Given the description of an element on the screen output the (x, y) to click on. 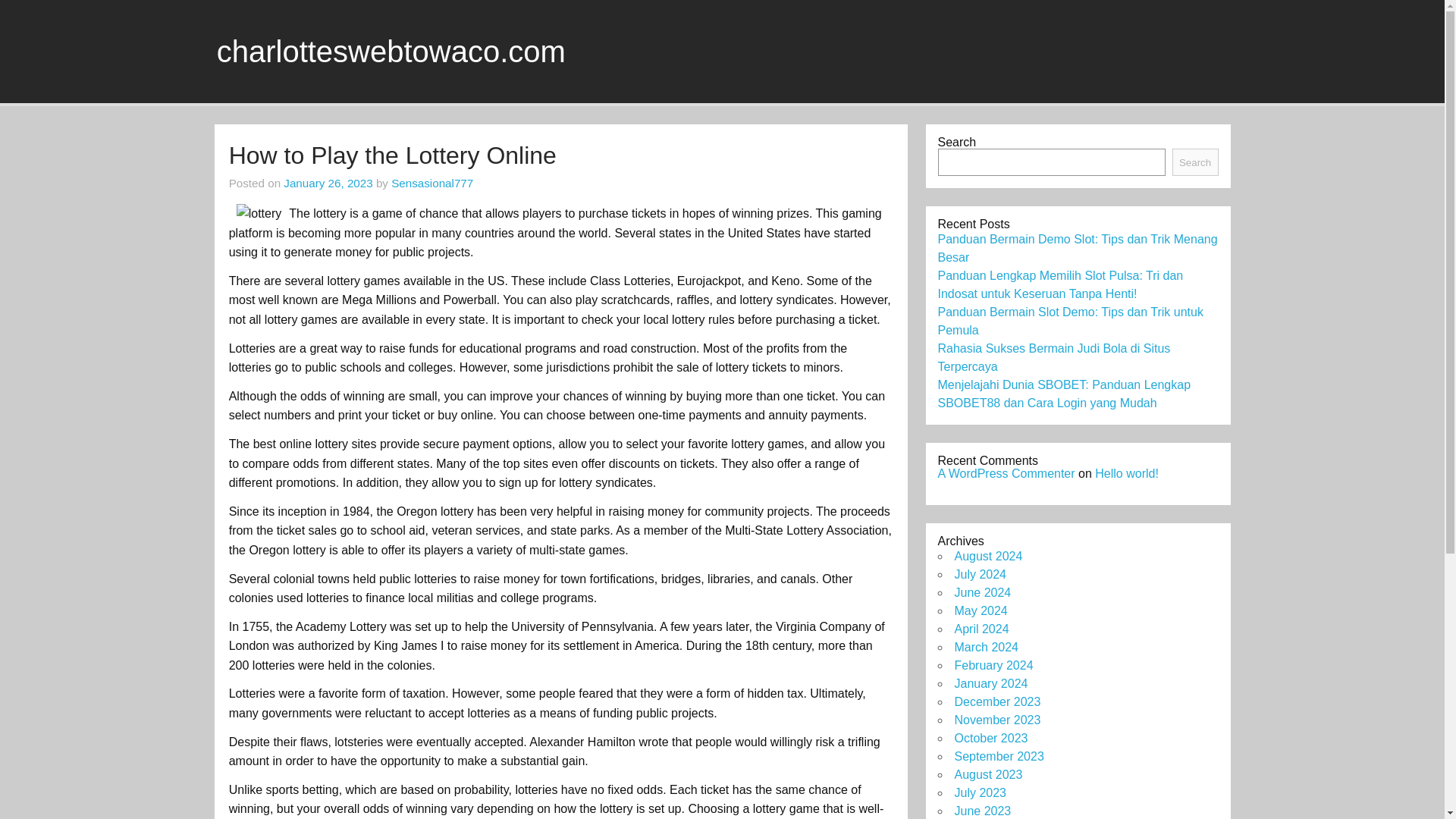
Sensasional777 (432, 182)
December 2023 (997, 701)
Hello world! (1126, 472)
November 2023 (997, 719)
August 2023 (987, 774)
Rahasia Sukses Bermain Judi Bola di Situs Terpercaya (1053, 357)
View all posts by Sensasional777 (432, 182)
A WordPress Commenter (1005, 472)
June 2023 (981, 810)
